Given the description of an element on the screen output the (x, y) to click on. 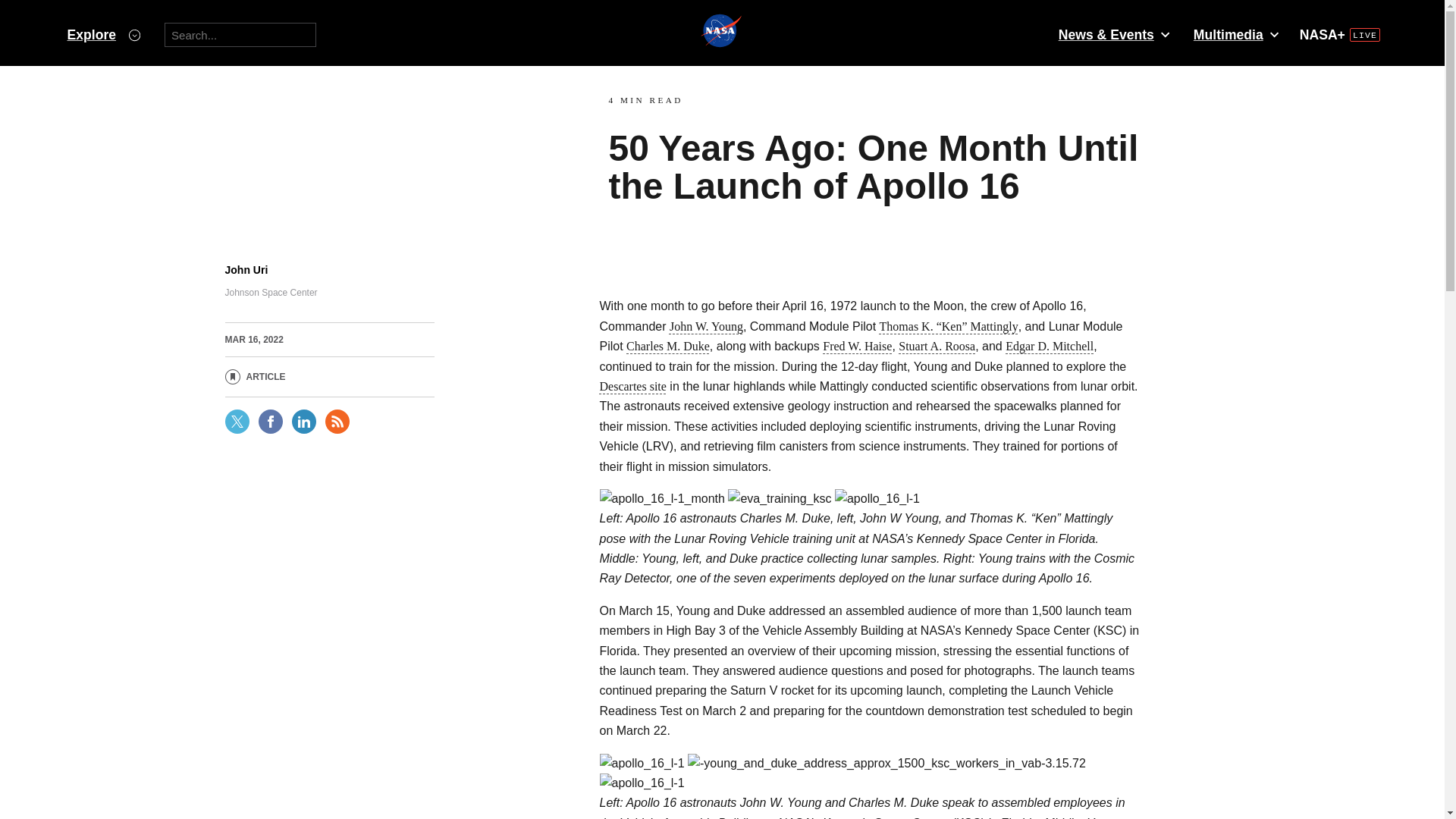
Edgar D. Mitchell (1049, 345)
John W. Young (705, 326)
Stuart A. Roosa (936, 345)
Descartes site (631, 386)
Multimedia (1235, 35)
Fred W. Haise (856, 345)
Explore (103, 35)
Charles M. Duke (668, 345)
